Given the description of an element on the screen output the (x, y) to click on. 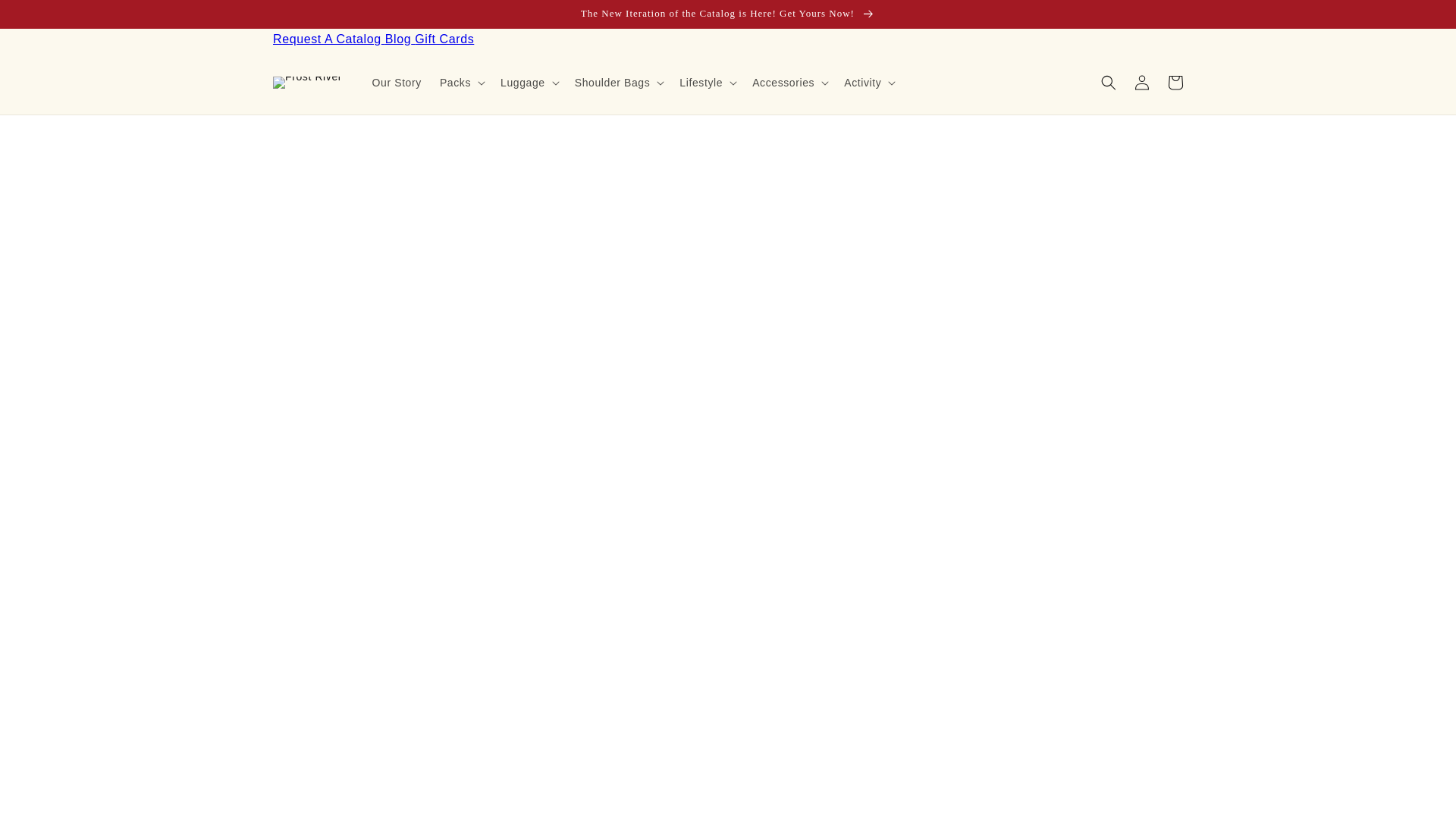
Request A Catalog (329, 38)
Skip to content (45, 17)
Blog (399, 38)
Gift Cards (444, 38)
